Given the description of an element on the screen output the (x, y) to click on. 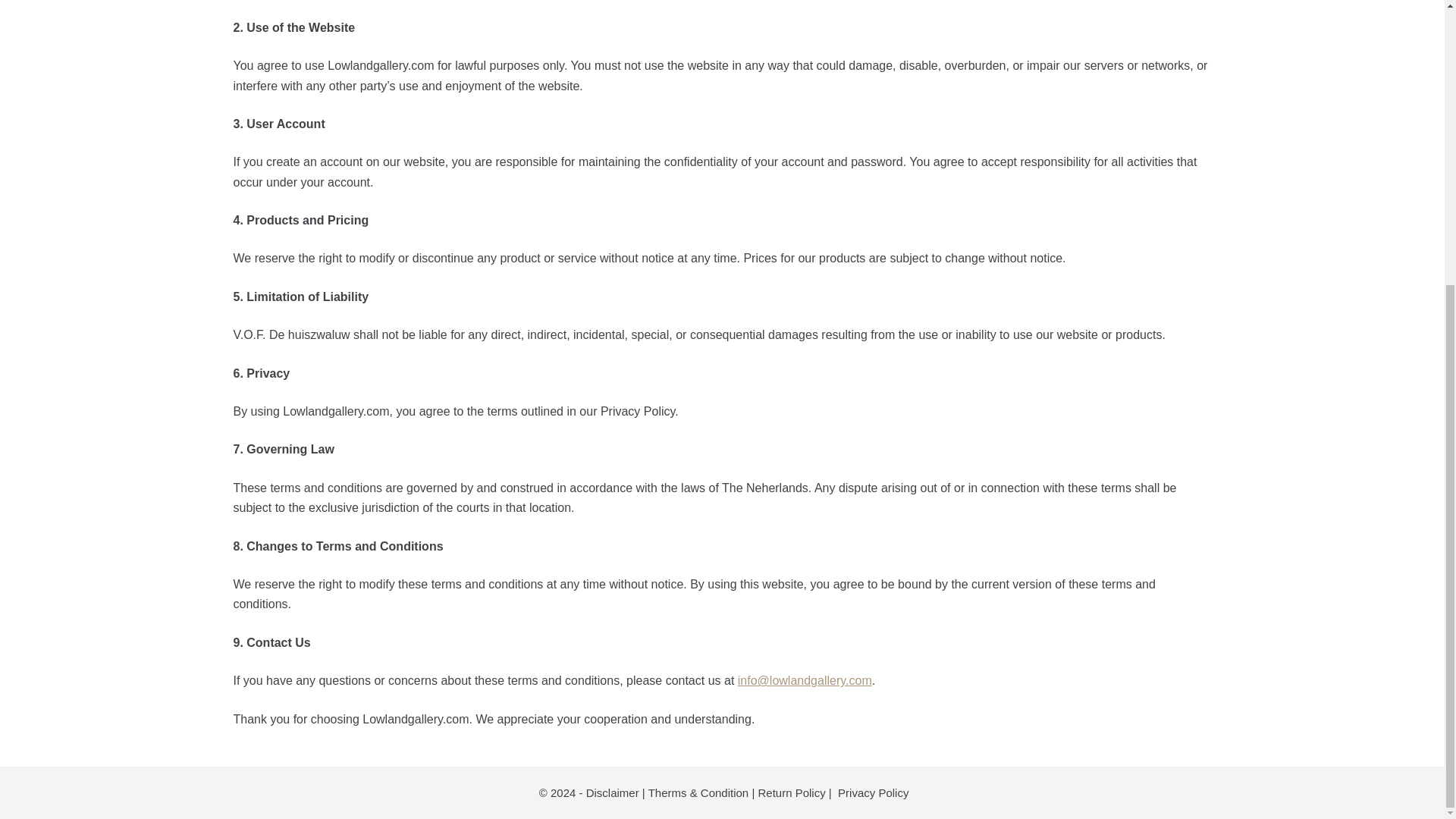
Return Policy (791, 792)
Privacy Policy (873, 792)
Disclaime (610, 792)
